Given the description of an element on the screen output the (x, y) to click on. 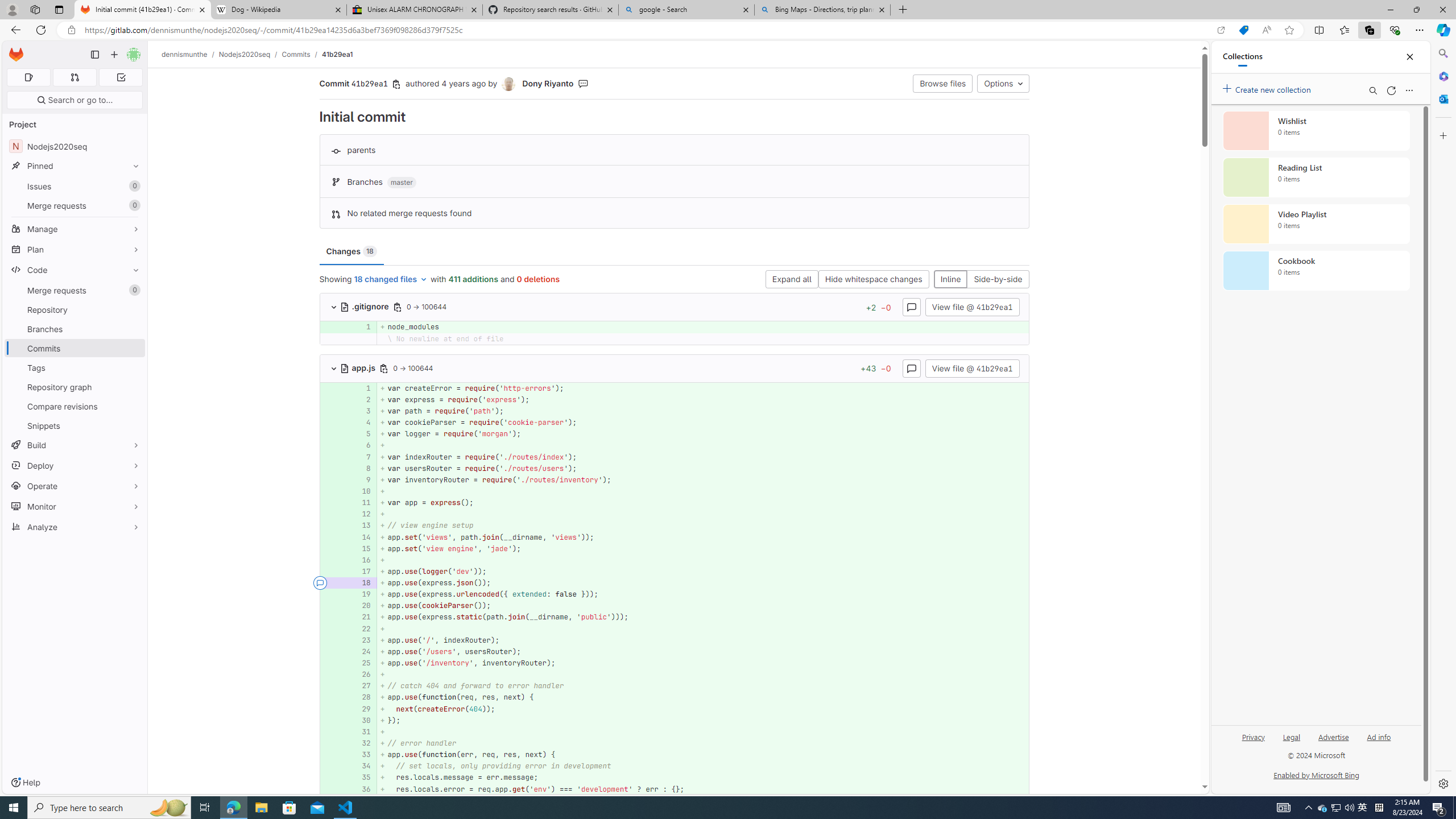
Build (74, 444)
19 (362, 594)
18 (362, 582)
14 (362, 536)
Ad info (1378, 741)
20 (360, 605)
Skip to main content (13, 49)
Manage (74, 228)
Repository (74, 309)
+ // catch 404 and forward to error handler  (703, 686)
Create new... (113, 54)
Operate (74, 485)
5 (362, 434)
AutomationID: 4a68969ef8e858229267b842dedf42ab5dde4d50_0_18 (674, 582)
Plan (74, 248)
